Given the description of an element on the screen output the (x, y) to click on. 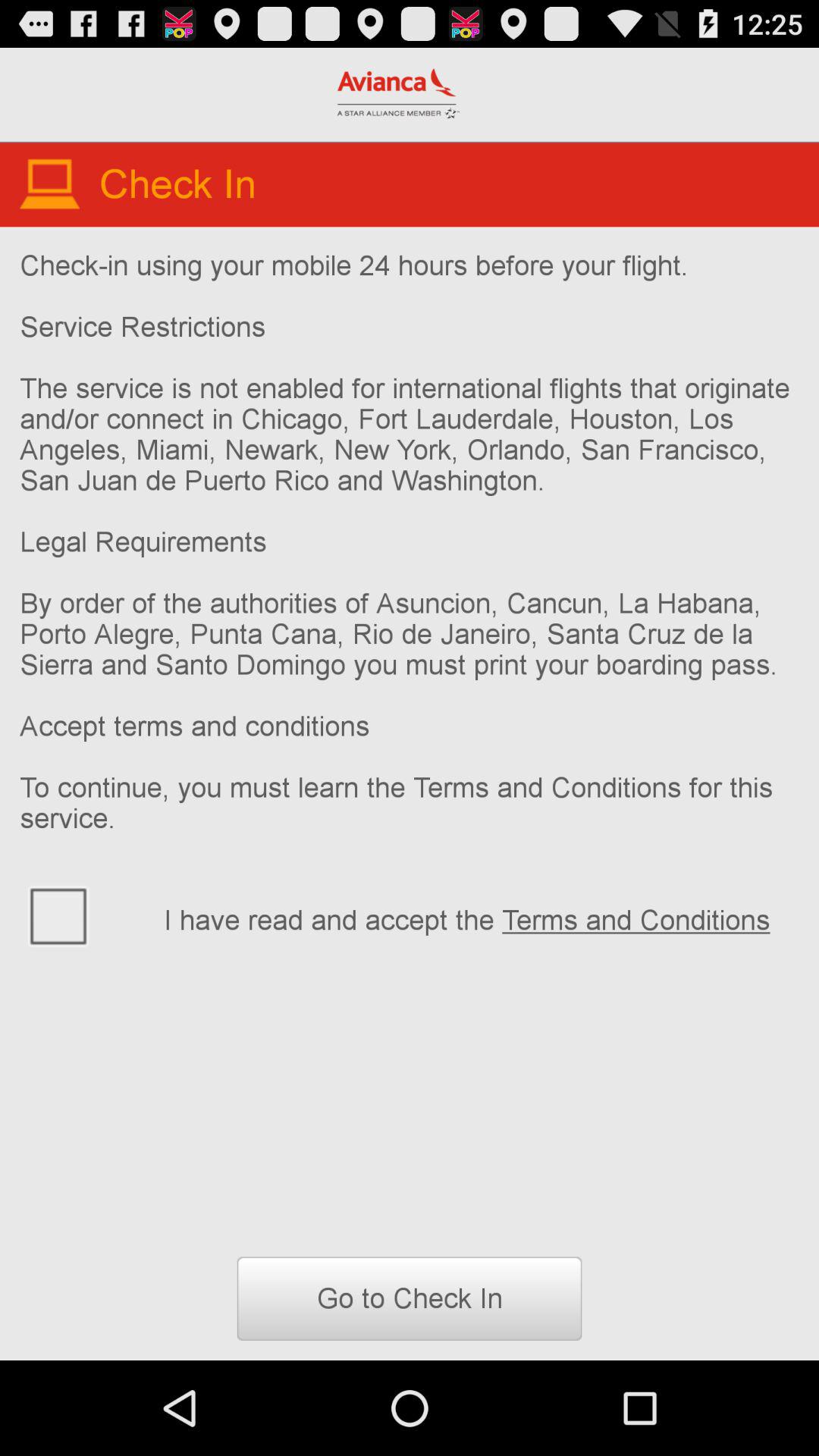
choose the item on the left (81, 914)
